Given the description of an element on the screen output the (x, y) to click on. 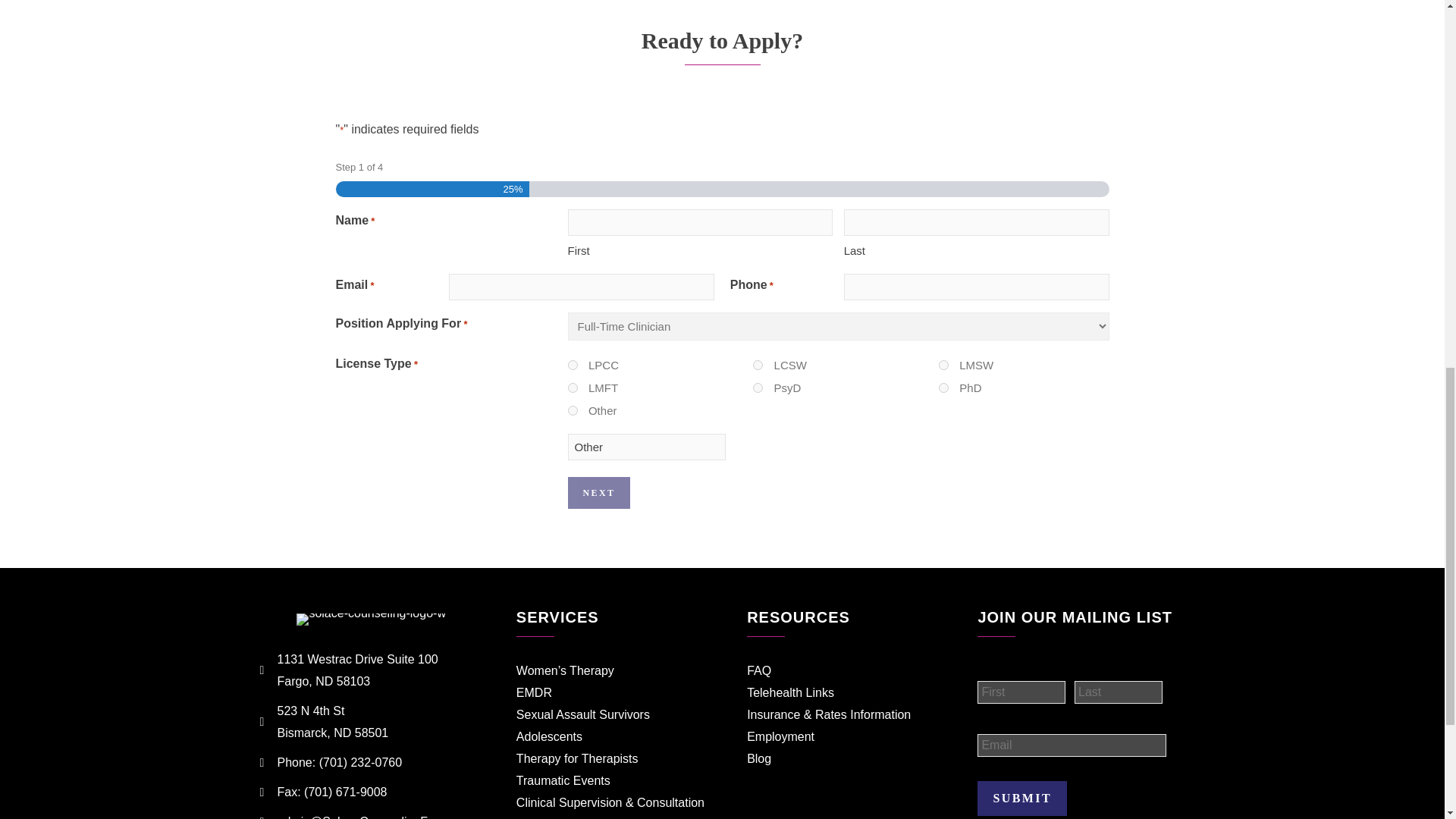
Submit (1021, 798)
Other (646, 447)
Therapy for Therapists (577, 758)
LMSW (944, 365)
LCSW (757, 365)
EMDR (533, 692)
Sexual Assault Survivors (582, 714)
LMFT (571, 388)
PhD (944, 388)
LPCC (571, 365)
